Given the description of an element on the screen output the (x, y) to click on. 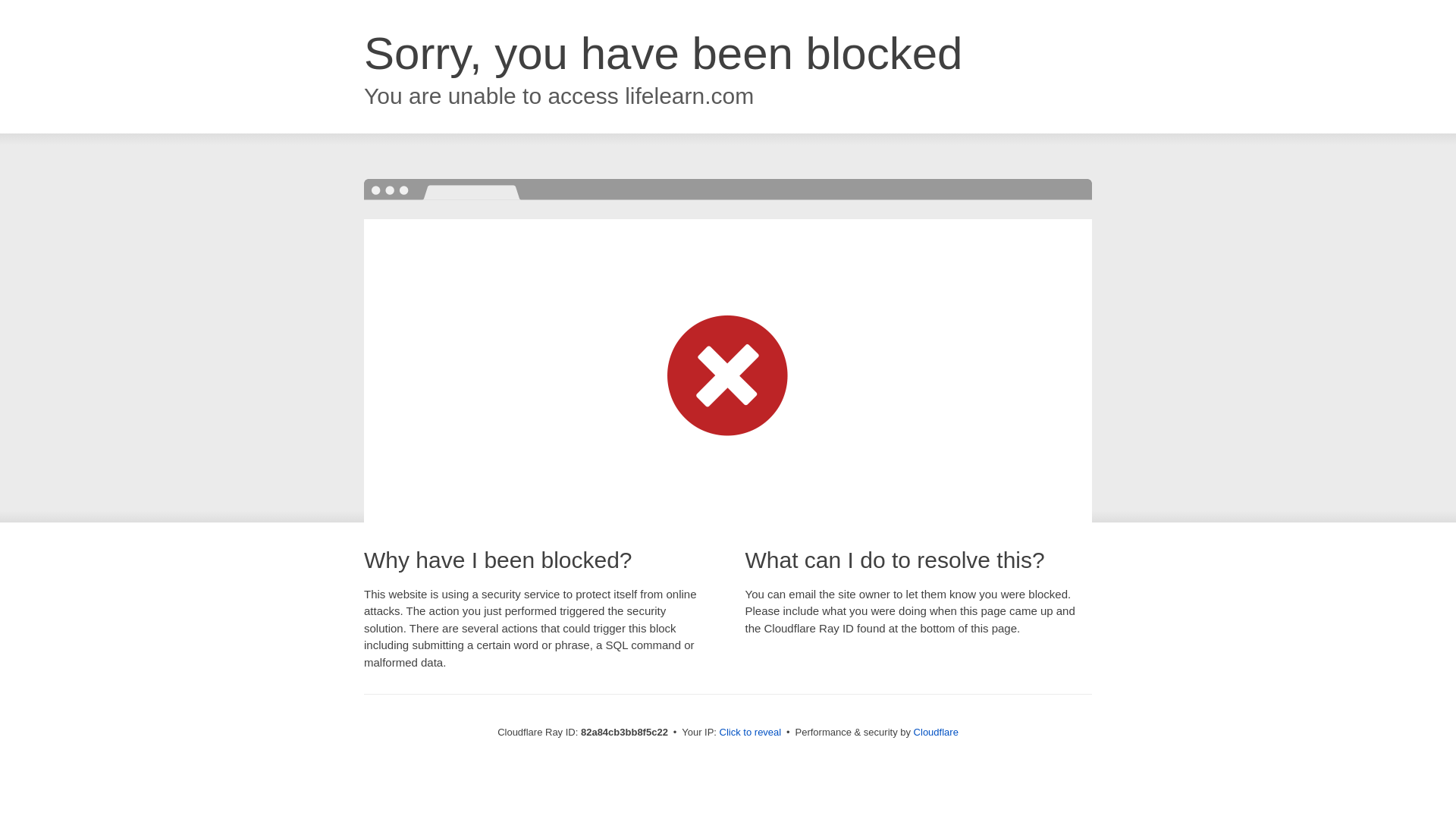
Cloudflare Element type: text (935, 731)
Click to reveal Element type: text (750, 732)
